Given the description of an element on the screen output the (x, y) to click on. 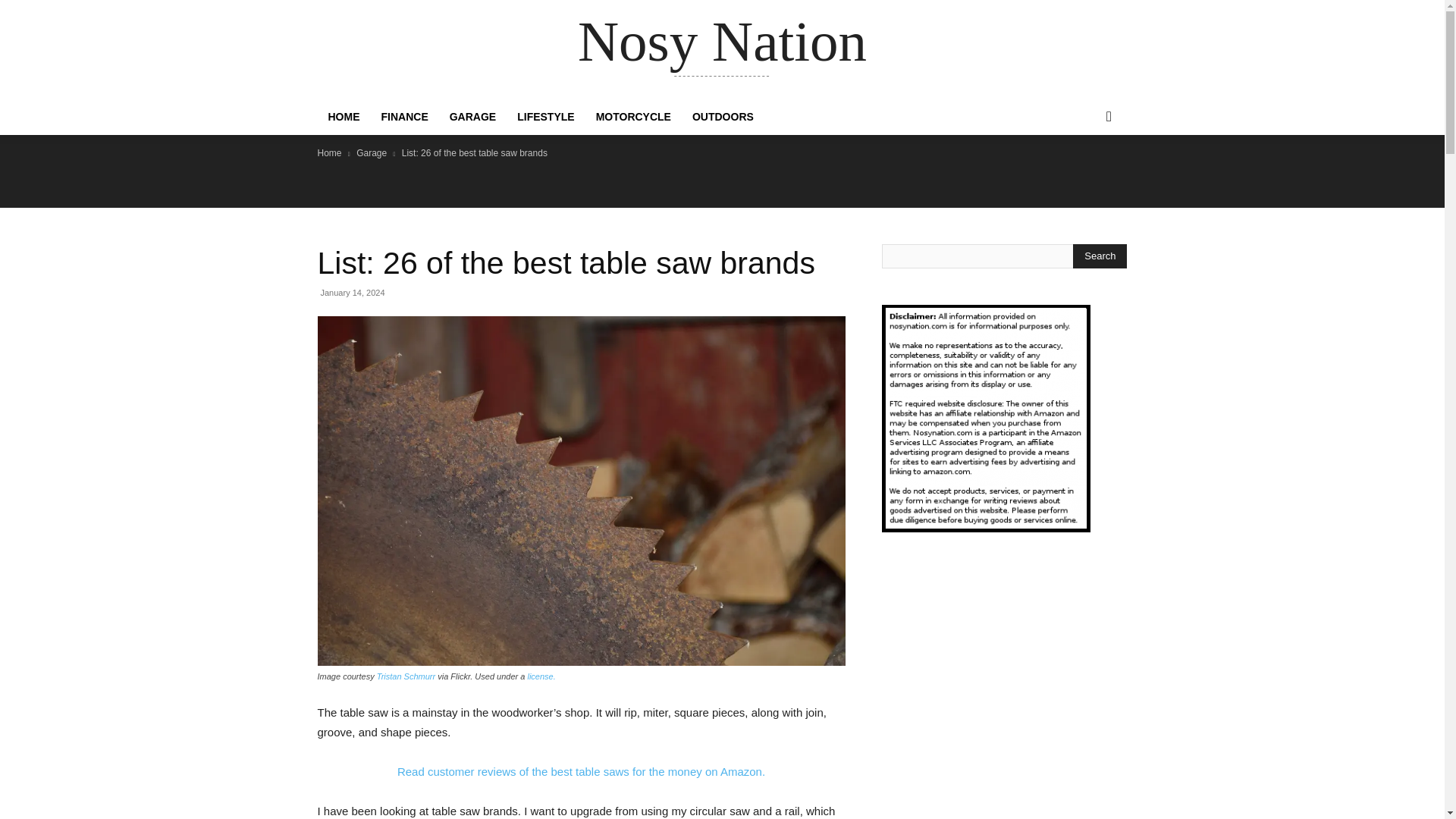
Home (328, 153)
license. (540, 675)
HOME (343, 116)
Search (1099, 256)
LIFESTYLE (545, 116)
View all posts in Garage (371, 153)
Tristan Schmurr (406, 675)
MOTORCYCLE (633, 116)
GARAGE (472, 116)
